Given the description of an element on the screen output the (x, y) to click on. 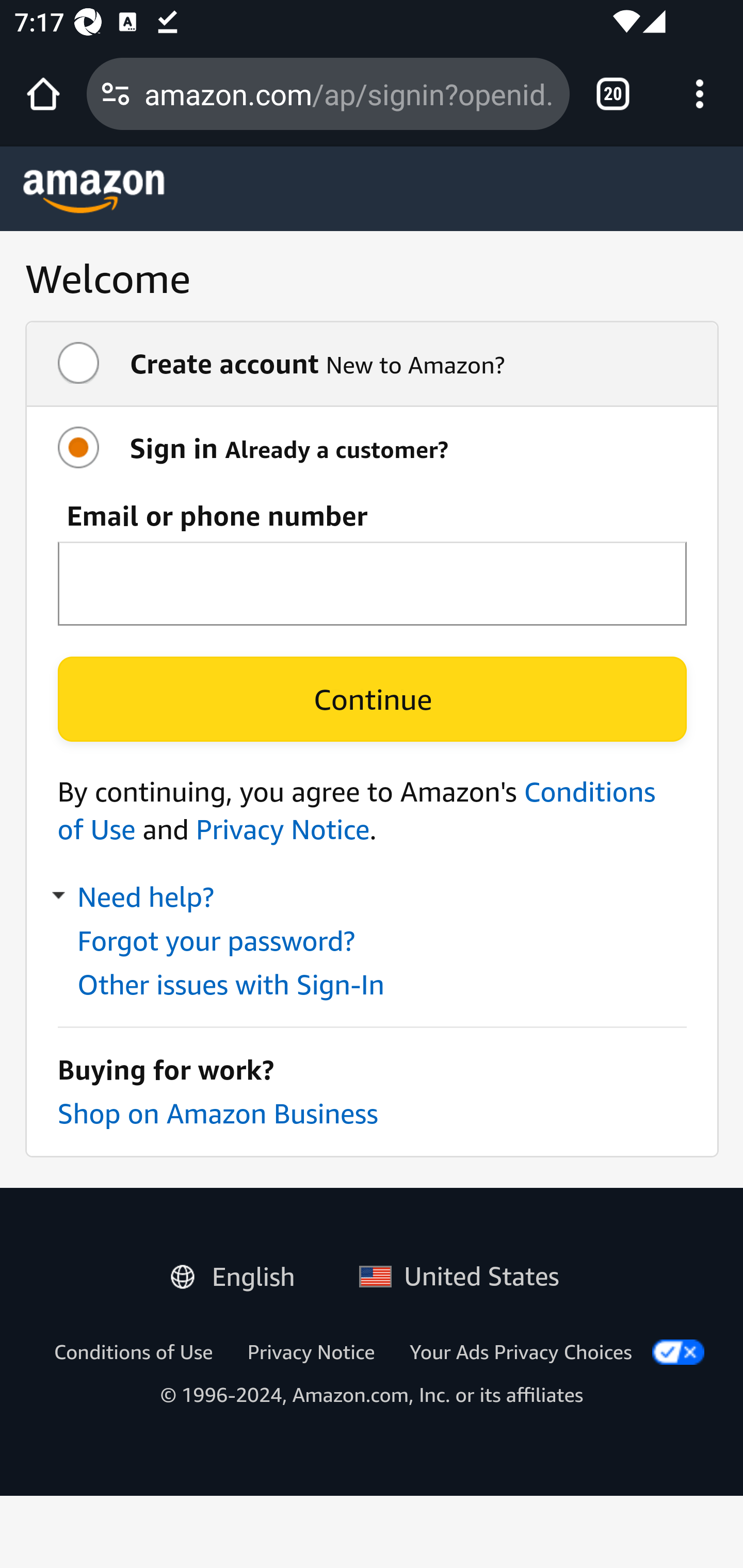
Open the home page (43, 93)
Connection is secure (115, 93)
Switch or close tabs (612, 93)
Customize and control Google Chrome (699, 93)
Amazon (94, 191)
Continue (371, 698)
Conditions of Use (356, 810)
Privacy Notice (282, 829)
Need help? (134, 897)
Forgot your password? (215, 940)
Other issues with Sign-In (230, 984)
Shop on Amazon Business (216, 1113)
Choose a language for shopping. English (239, 1271)
Conditions of Use (132, 1351)
Privacy Notice (310, 1351)
Your Ads Privacy Choices (520, 1351)
